Given the description of an element on the screen output the (x, y) to click on. 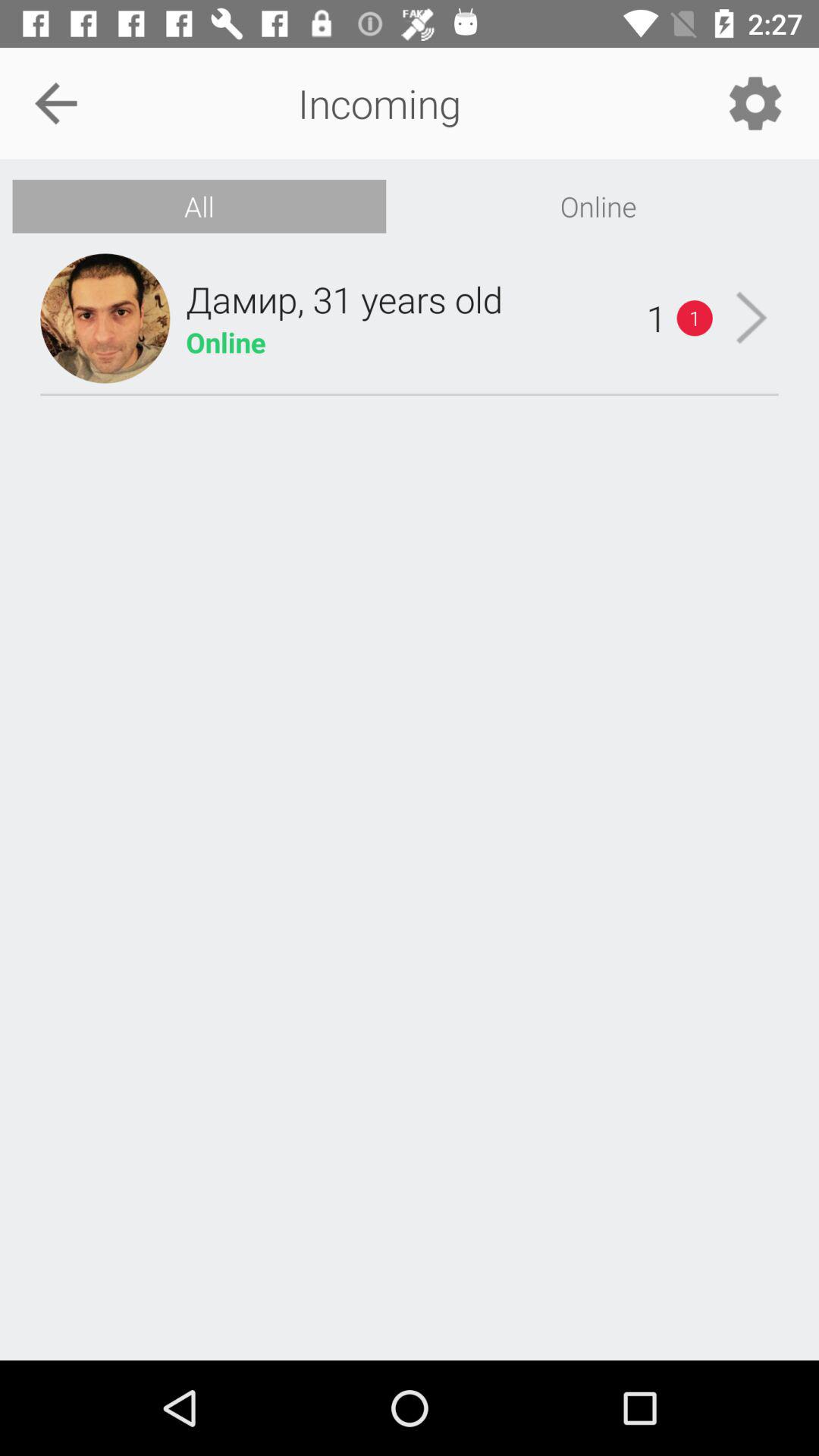
turn on the item to the right of the 1 item (751, 317)
